Given the description of an element on the screen output the (x, y) to click on. 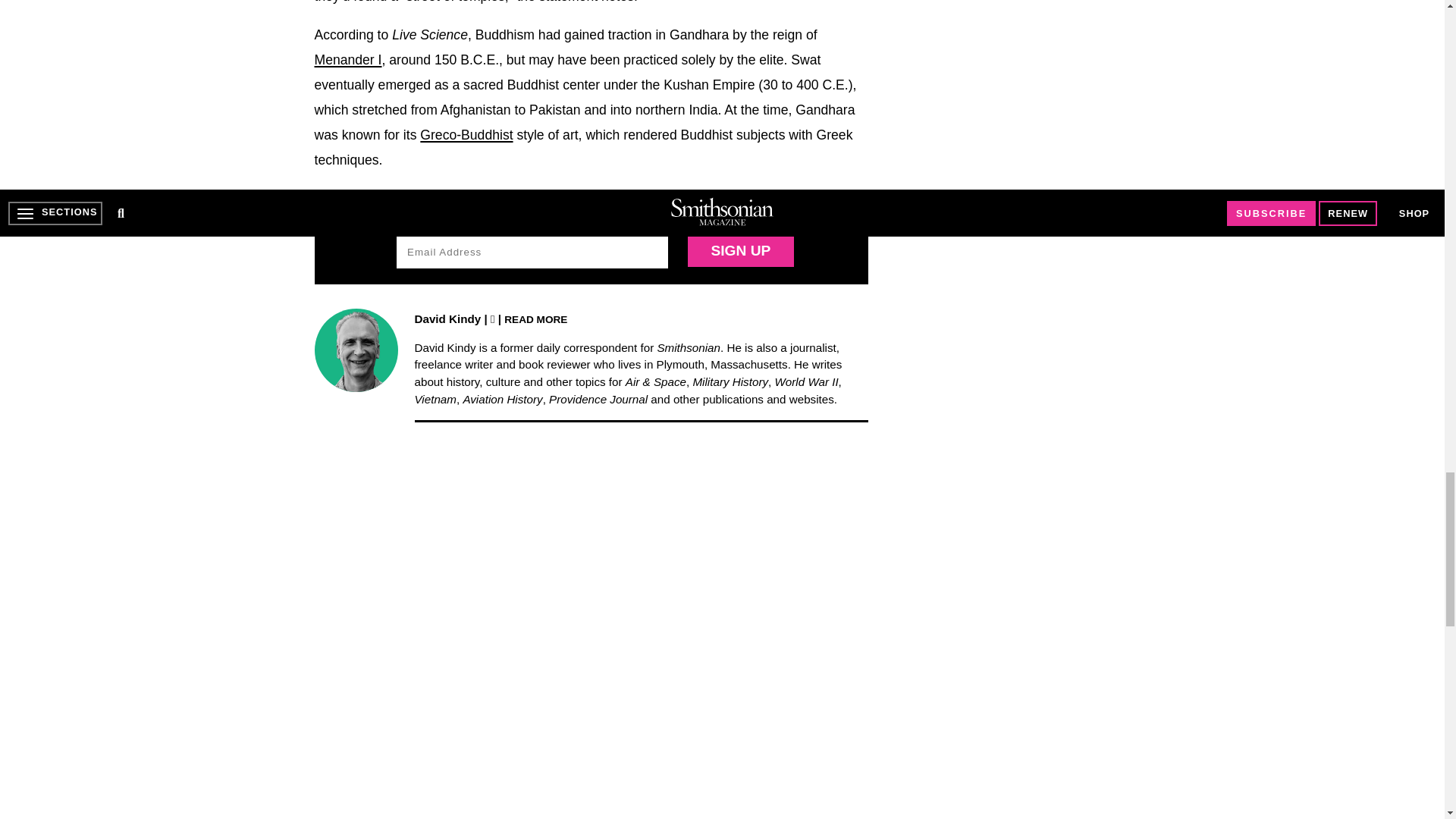
Read more from this author (535, 318)
Sign Up (740, 250)
